Given the description of an element on the screen output the (x, y) to click on. 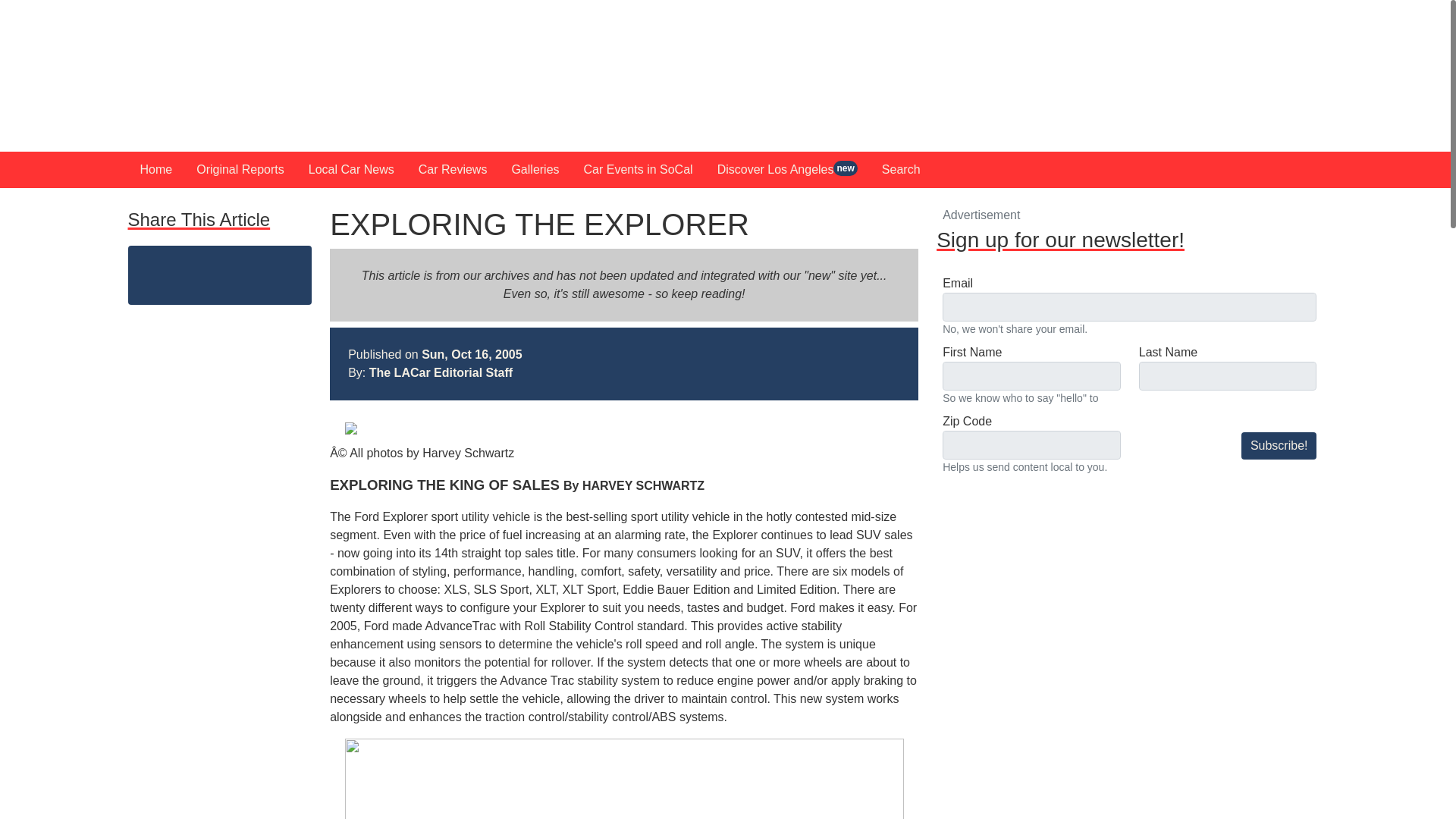
Local Car News (351, 169)
Galleries (534, 169)
Car Reviews (452, 169)
Subscribe! (1279, 445)
Original Reports (240, 169)
Search (901, 169)
Car Events in SoCal (638, 169)
Discover Los Angelesnew (786, 169)
Home (156, 169)
